Given the description of an element on the screen output the (x, y) to click on. 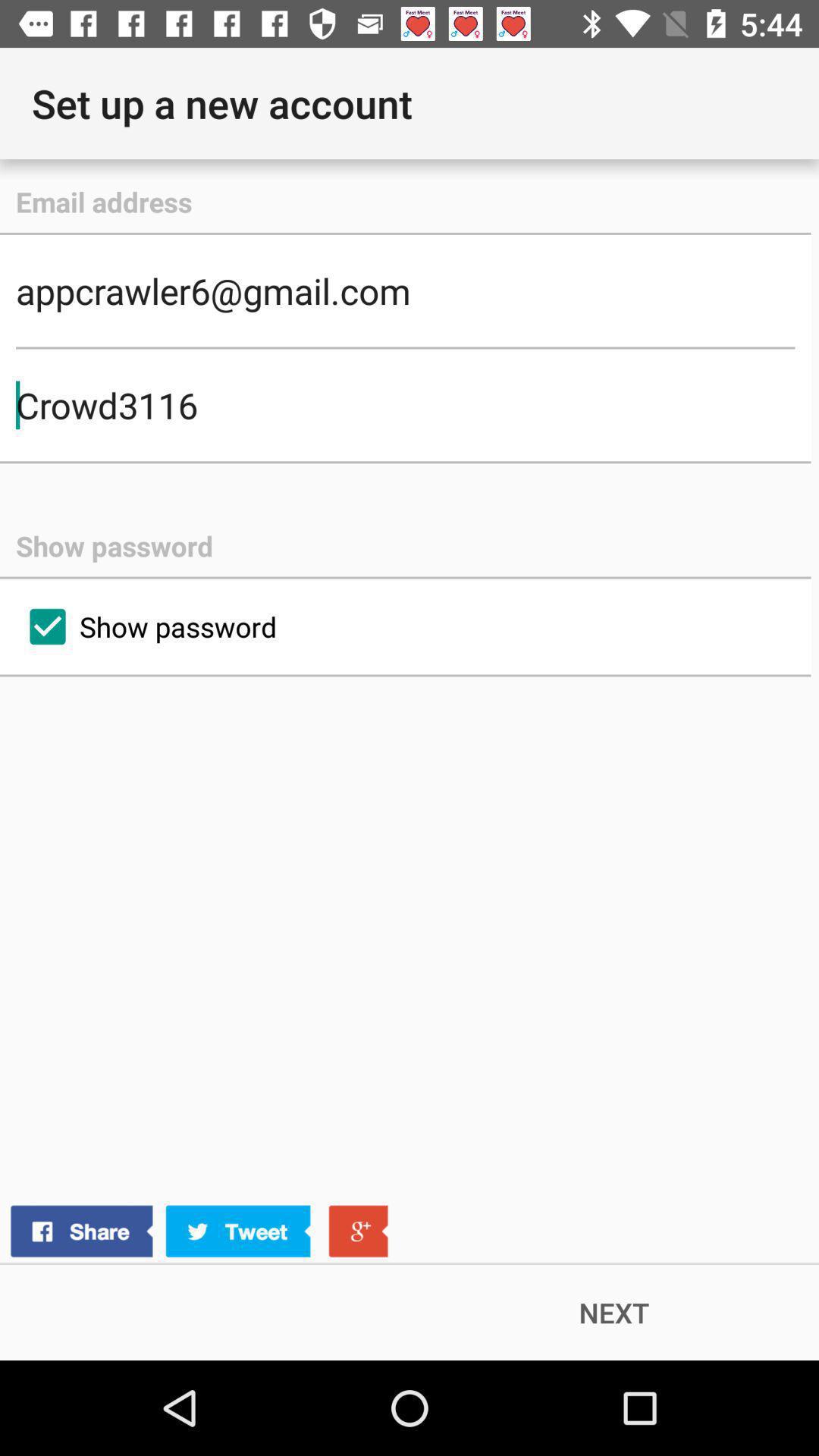
launch appcrawler6@gmail.com (405, 290)
